Given the description of an element on the screen output the (x, y) to click on. 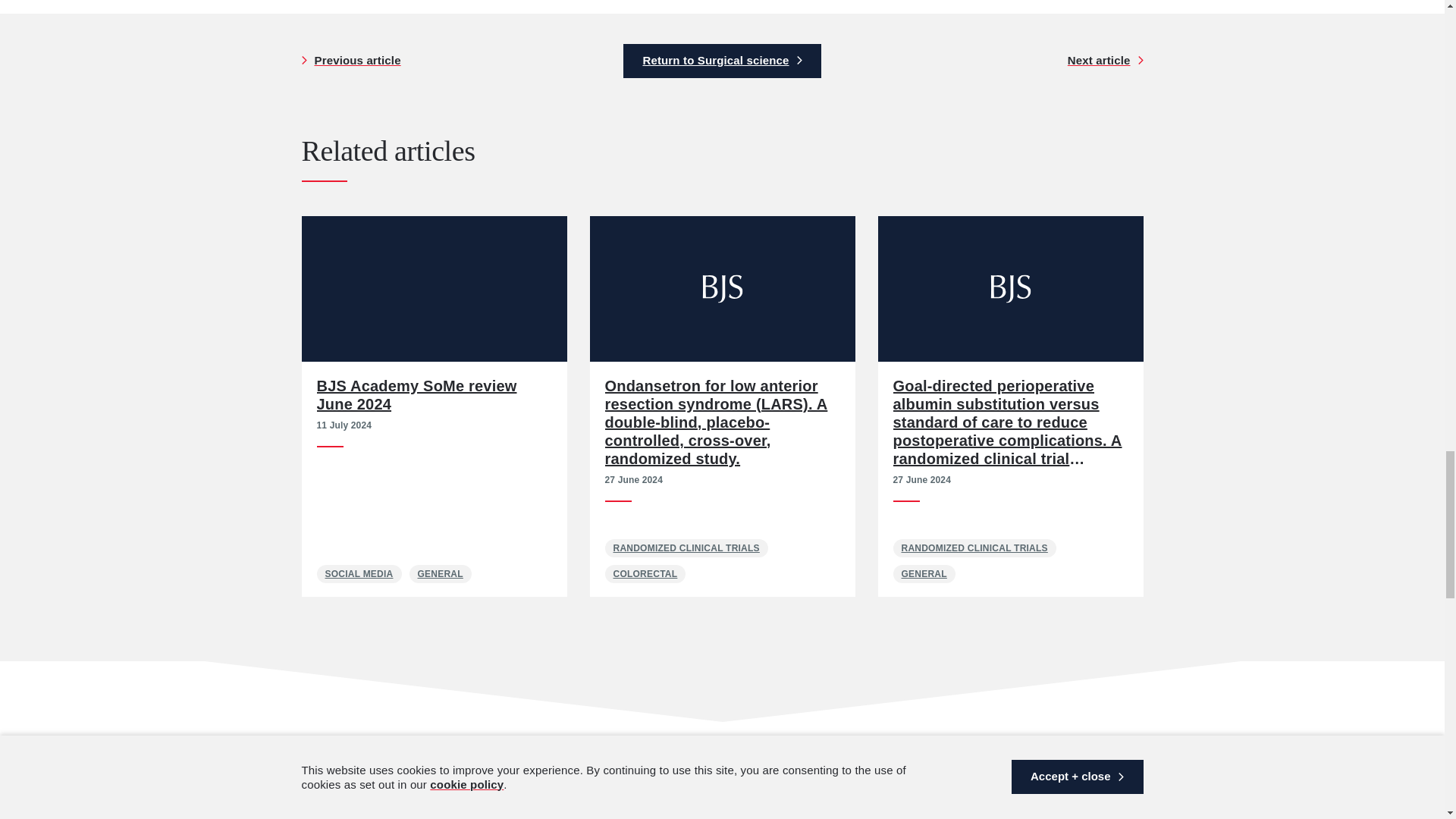
Previous: BJS Academy SoMe Review for July 2022 (360, 60)
